Given the description of an element on the screen output the (x, y) to click on. 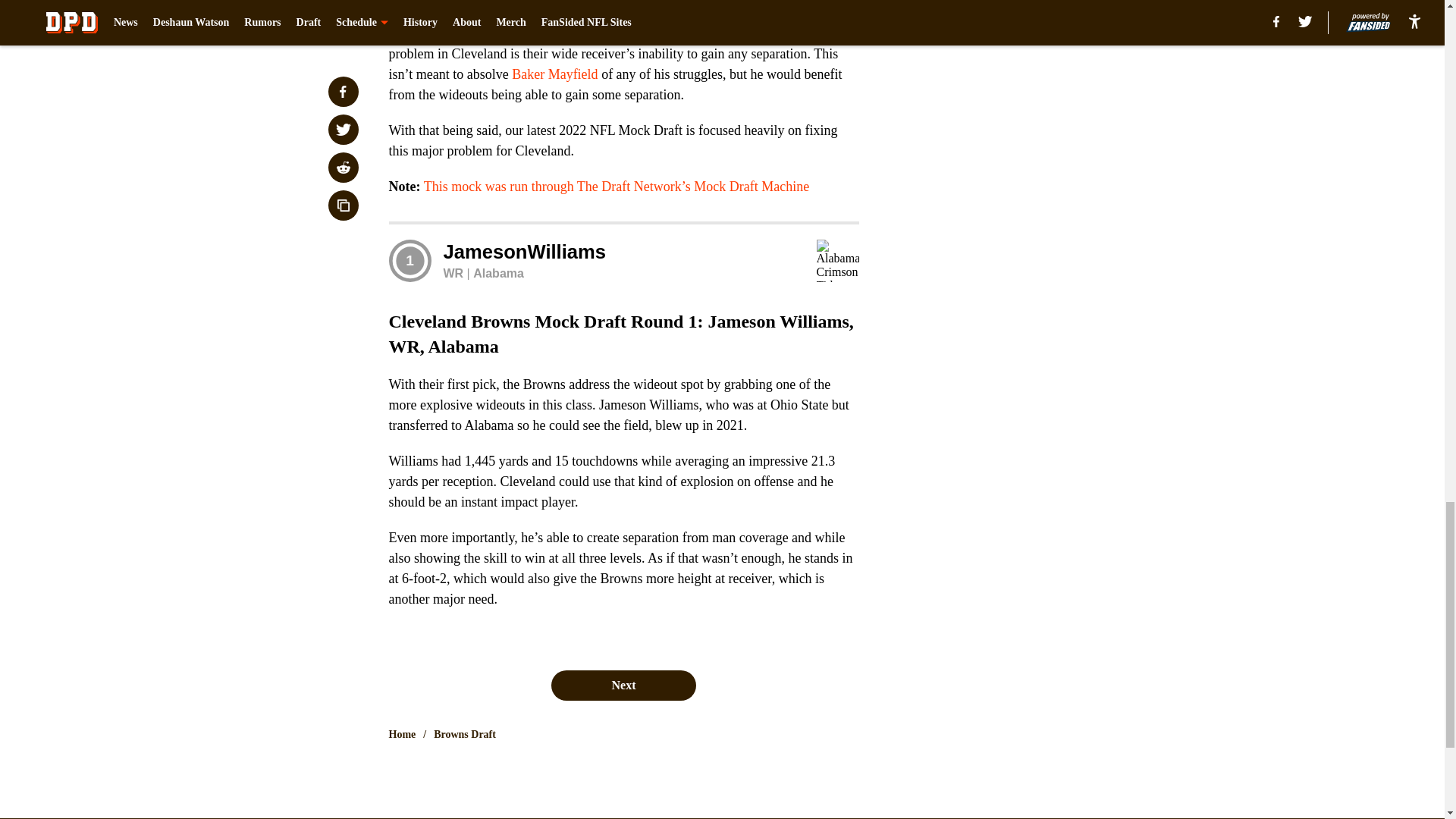
Browns Draft (464, 734)
Baker Mayfield (554, 73)
Home (401, 734)
Next (622, 685)
